Given the description of an element on the screen output the (x, y) to click on. 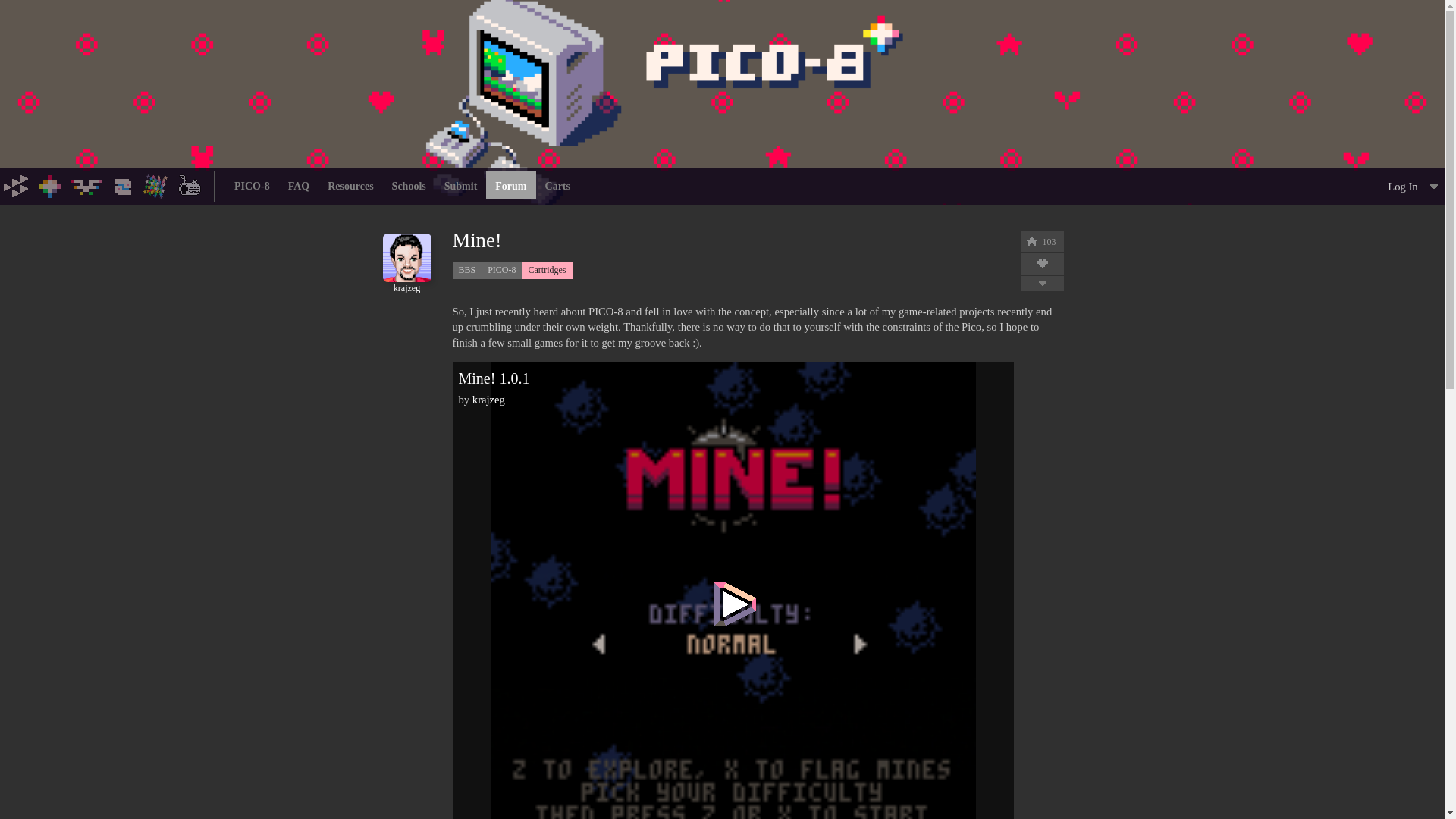
Mine! (511, 240)
Give this post a star (1031, 240)
Voxatron (86, 184)
PICO-8 (49, 184)
Add to your favourites collection (1041, 263)
PICO-8 (501, 270)
krajzeg (405, 282)
Lexaloffle Games (16, 184)
Cartridges (547, 270)
Superblog (189, 184)
BBS (466, 270)
BBS (156, 184)
Picotron (122, 184)
